Given the description of an element on the screen output the (x, y) to click on. 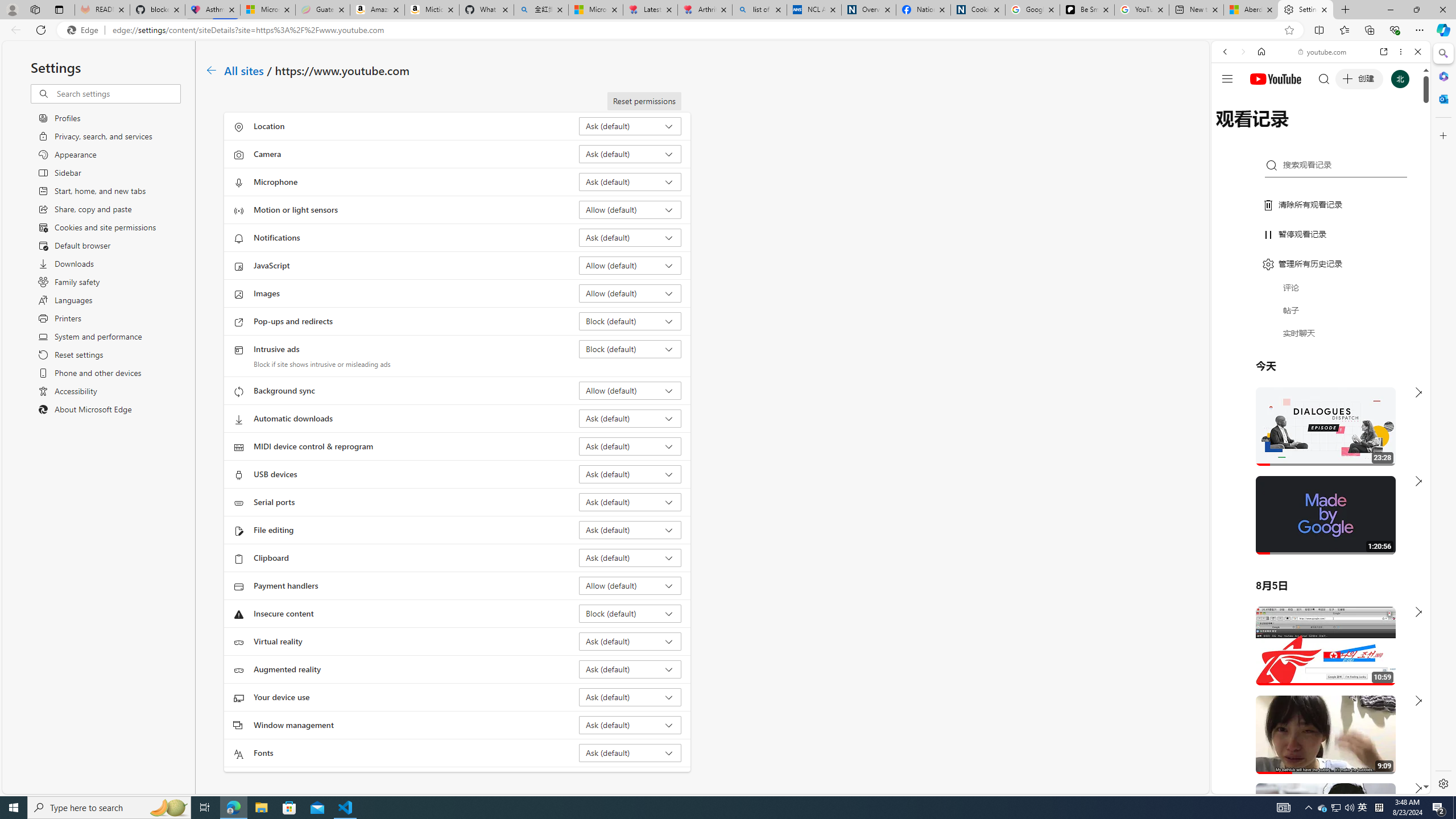
Intrusive ads Block (default) (630, 348)
Search videos from youtube.com (1299, 373)
Clipboard Ask (default) (630, 557)
Go back to All sites page. (210, 70)
Edge (84, 29)
Background sync Allow (default) (630, 390)
